Given the description of an element on the screen output the (x, y) to click on. 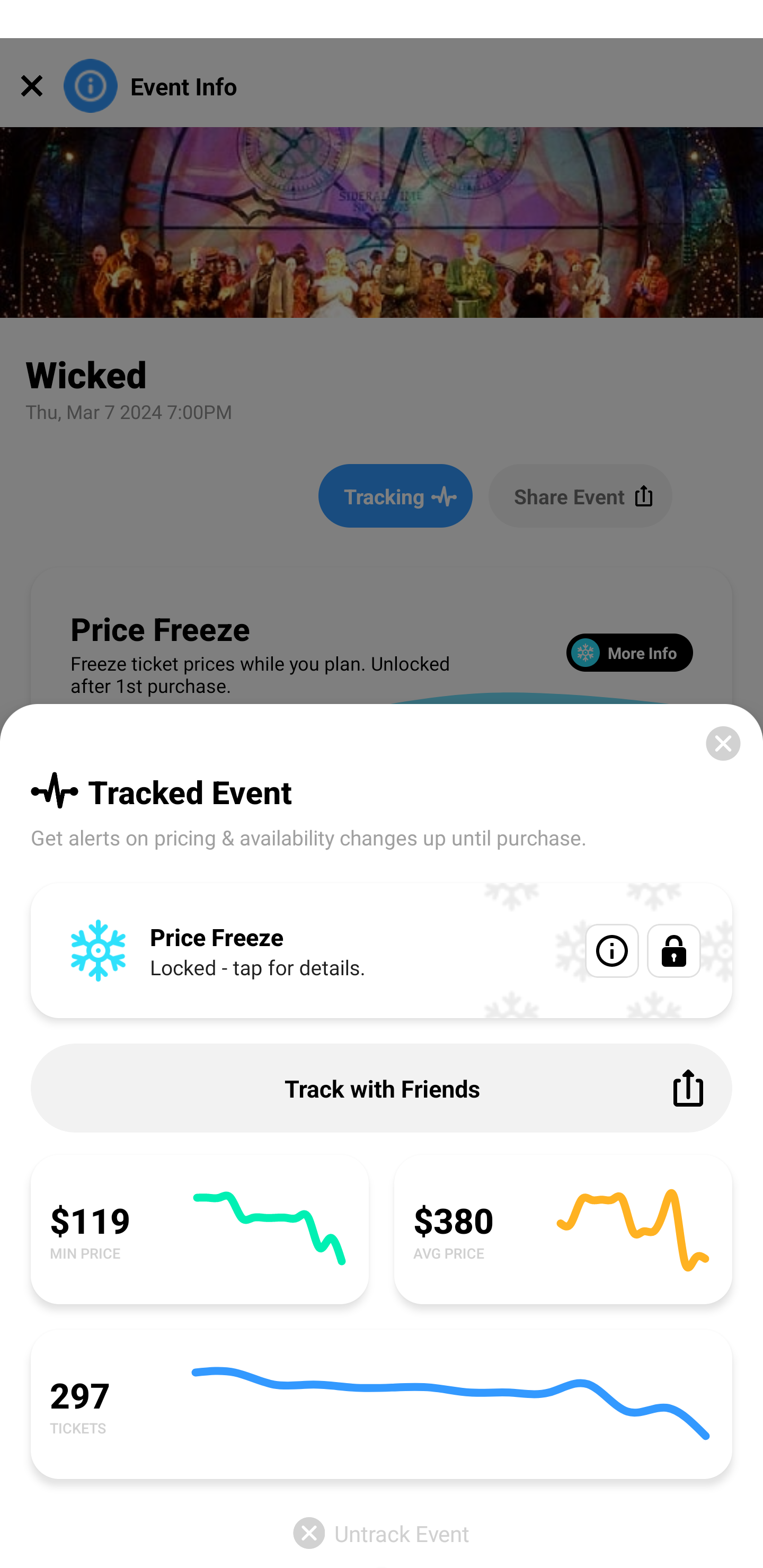
Track with Friends (381, 1088)
Untrack Event (381, 1533)
